Given the description of an element on the screen output the (x, y) to click on. 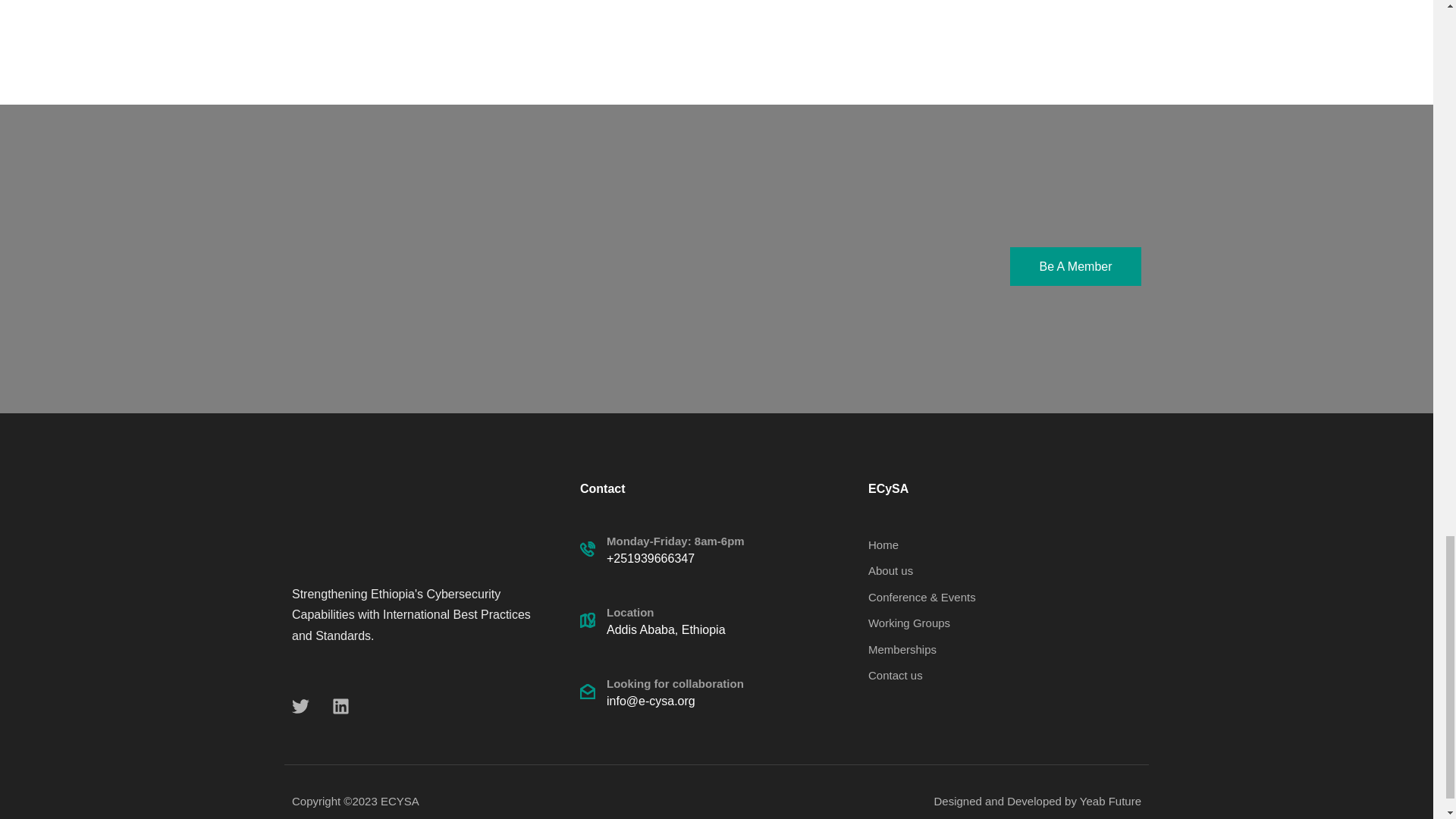
Contact us (1004, 675)
Be A Member (1075, 266)
About us (1004, 570)
Memberships (1004, 649)
Working Groups (1004, 623)
Home (1004, 545)
